Given the description of an element on the screen output the (x, y) to click on. 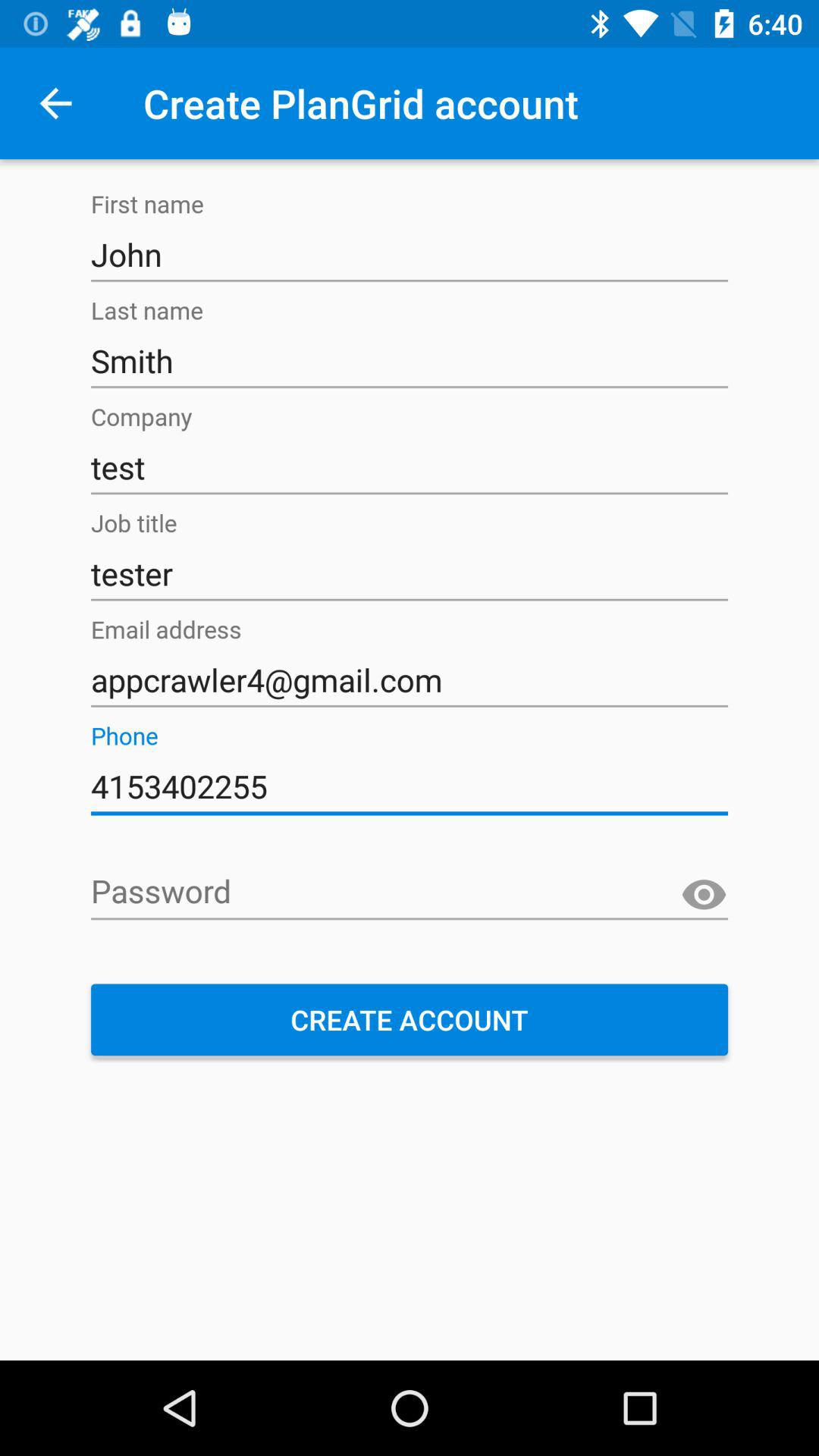
open icon above test icon (409, 361)
